Given the description of an element on the screen output the (x, y) to click on. 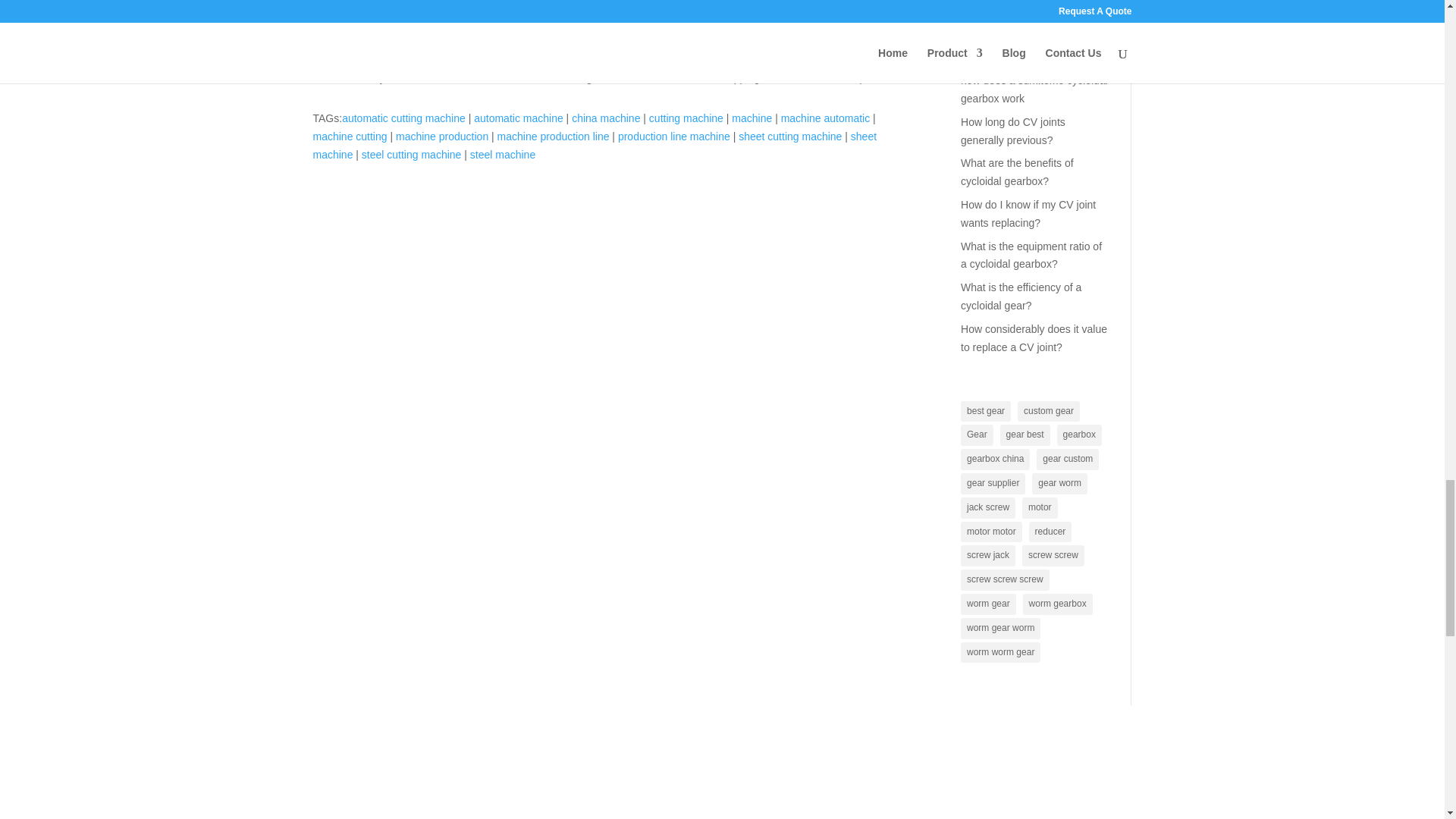
machine cutting (350, 136)
steel machine (502, 154)
automatic machine (518, 118)
sheet machine (594, 145)
cutting machine (686, 118)
automatic cutting machine (403, 118)
china machine (606, 118)
sheet cutting machine (789, 136)
steel cutting machine (411, 154)
machine production line (553, 136)
production line machine (673, 136)
machine production (441, 136)
machine automatic (825, 118)
machine (751, 118)
